Given the description of an element on the screen output the (x, y) to click on. 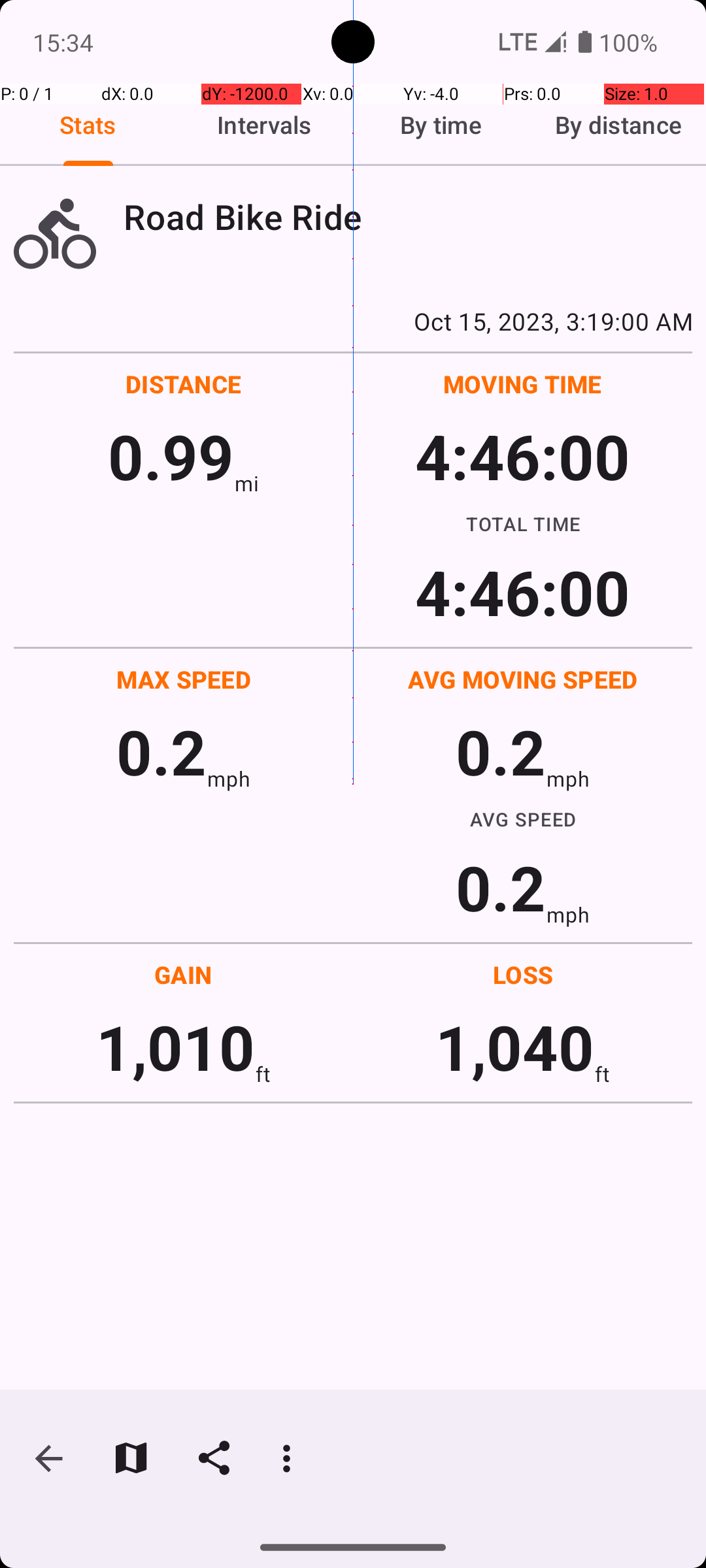
Road Bike Ride Element type: android.widget.TextView (407, 216)
Oct 15, 2023, 3:19:00 AM Element type: android.widget.TextView (352, 320)
0.99 Element type: android.widget.TextView (170, 455)
4:46:00 Element type: android.widget.TextView (522, 455)
0.2 Element type: android.widget.TextView (161, 750)
1,010 Element type: android.widget.TextView (175, 1045)
1,040 Element type: android.widget.TextView (514, 1045)
